Given the description of an element on the screen output the (x, y) to click on. 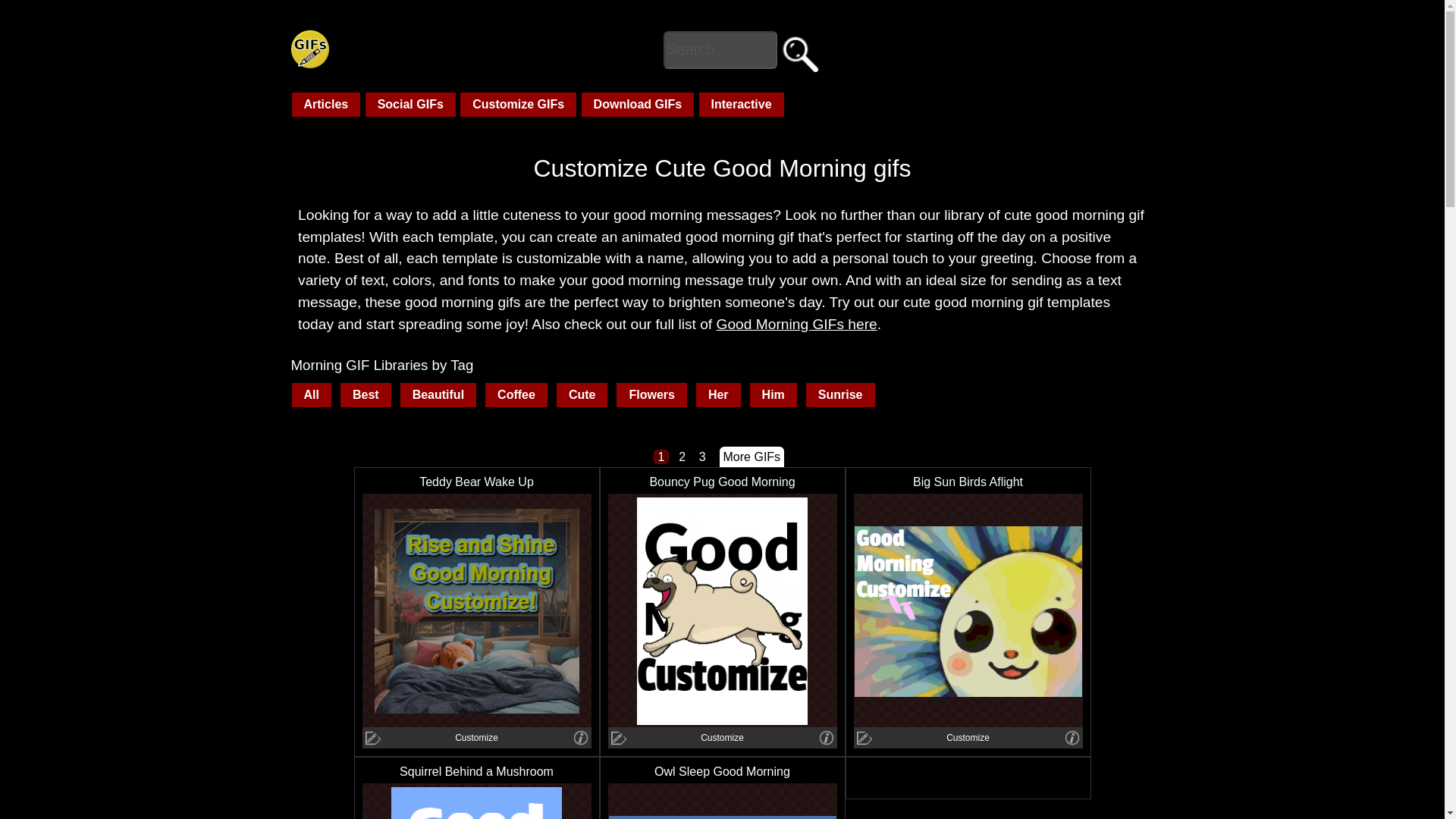
Search... (720, 49)
Interactive (741, 104)
Download GIFs (637, 104)
Articles (325, 104)
